Given the description of an element on the screen output the (x, y) to click on. 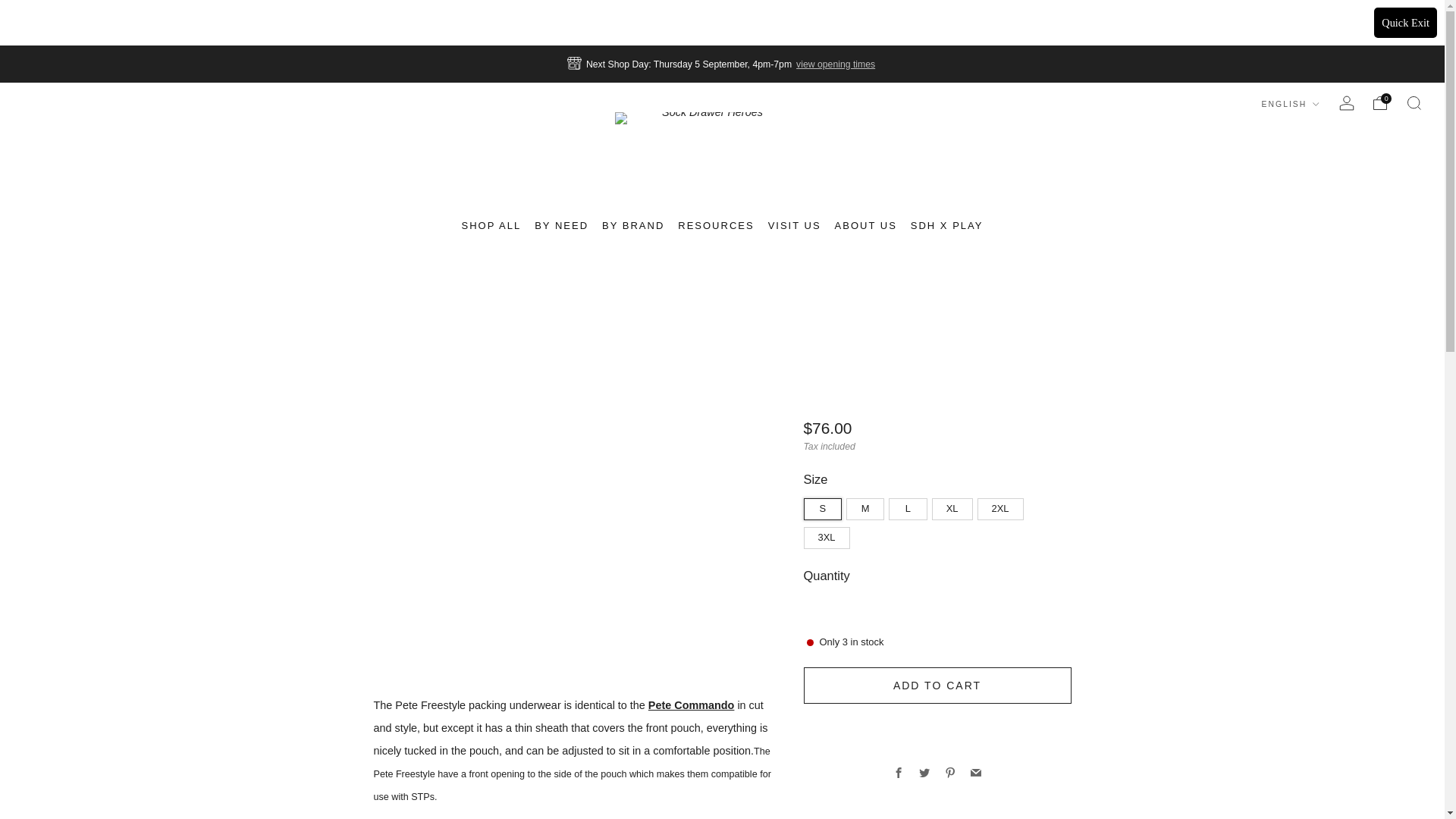
2XL (1001, 505)
view opening times (835, 63)
S (824, 505)
3XL (828, 534)
L (909, 505)
M (866, 505)
